Given the description of an element on the screen output the (x, y) to click on. 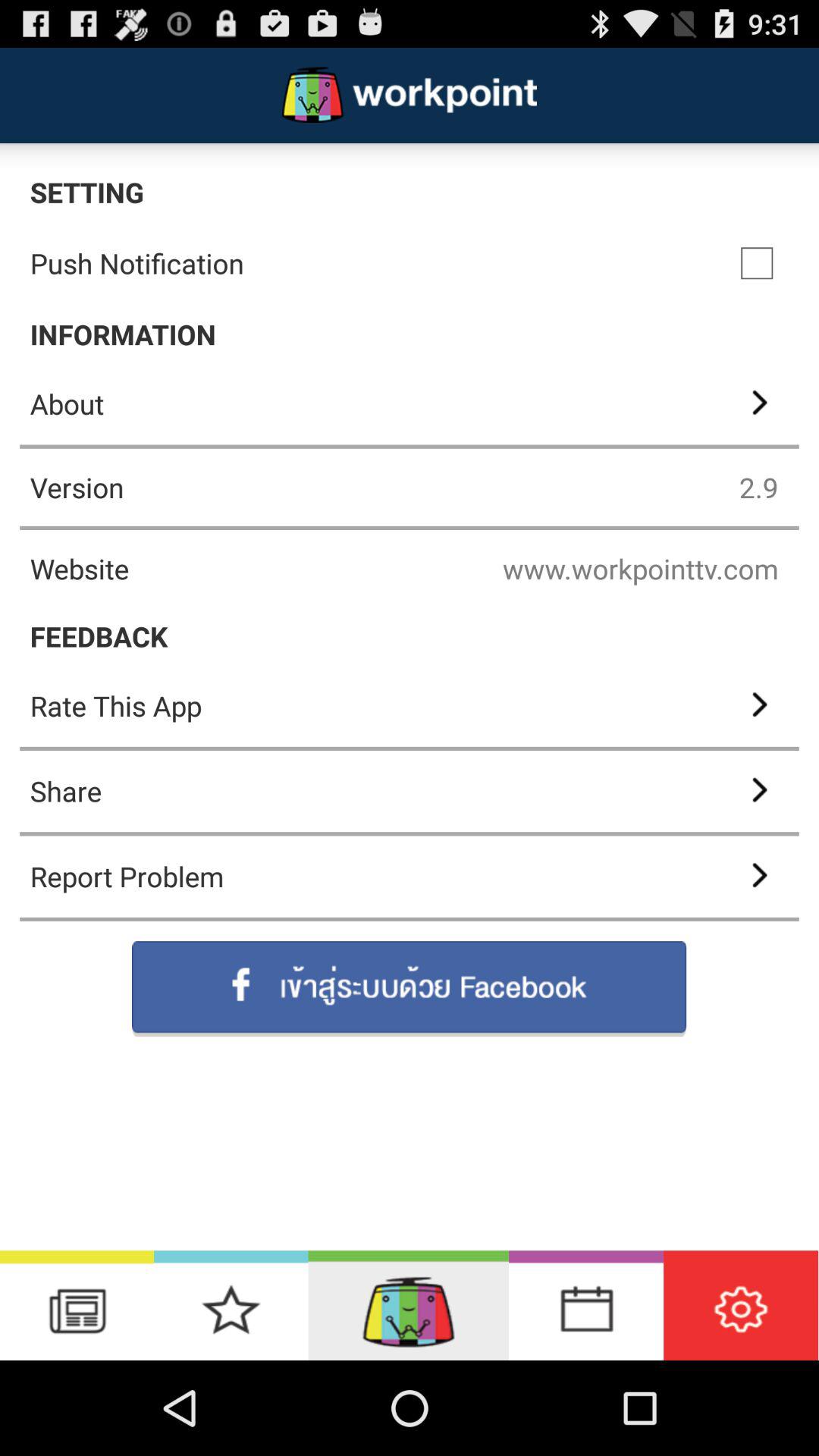
go to setings (740, 1305)
